Given the description of an element on the screen output the (x, y) to click on. 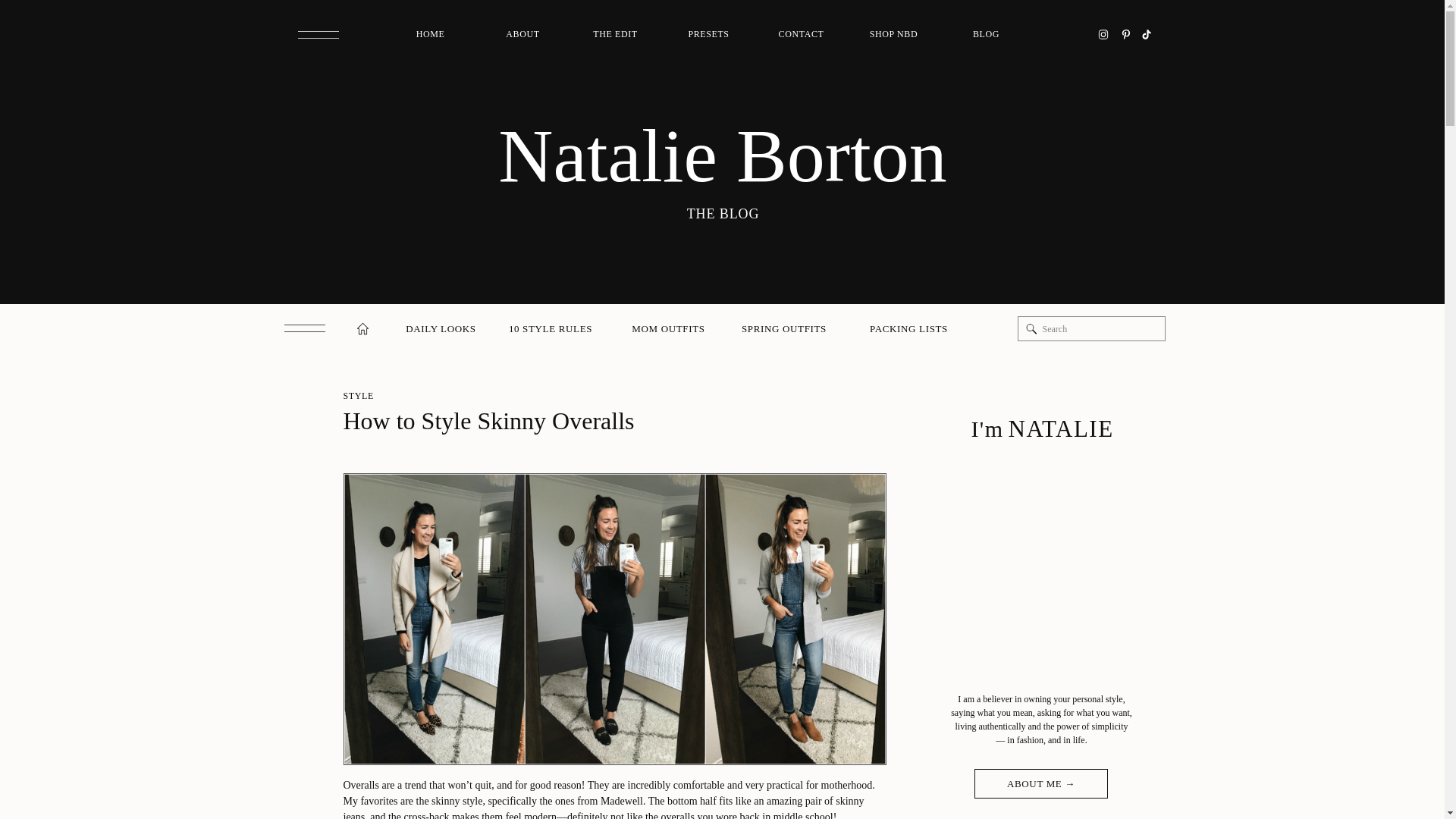
MOM OUTFITS (667, 328)
HOME (430, 35)
Natalie Borton (722, 155)
SHOP NBD (892, 35)
ABOUT (522, 35)
THE EDIT (615, 35)
BLOG (985, 35)
THE BLOG (722, 213)
PRESETS (707, 35)
CONTACT (800, 35)
